Given the description of an element on the screen output the (x, y) to click on. 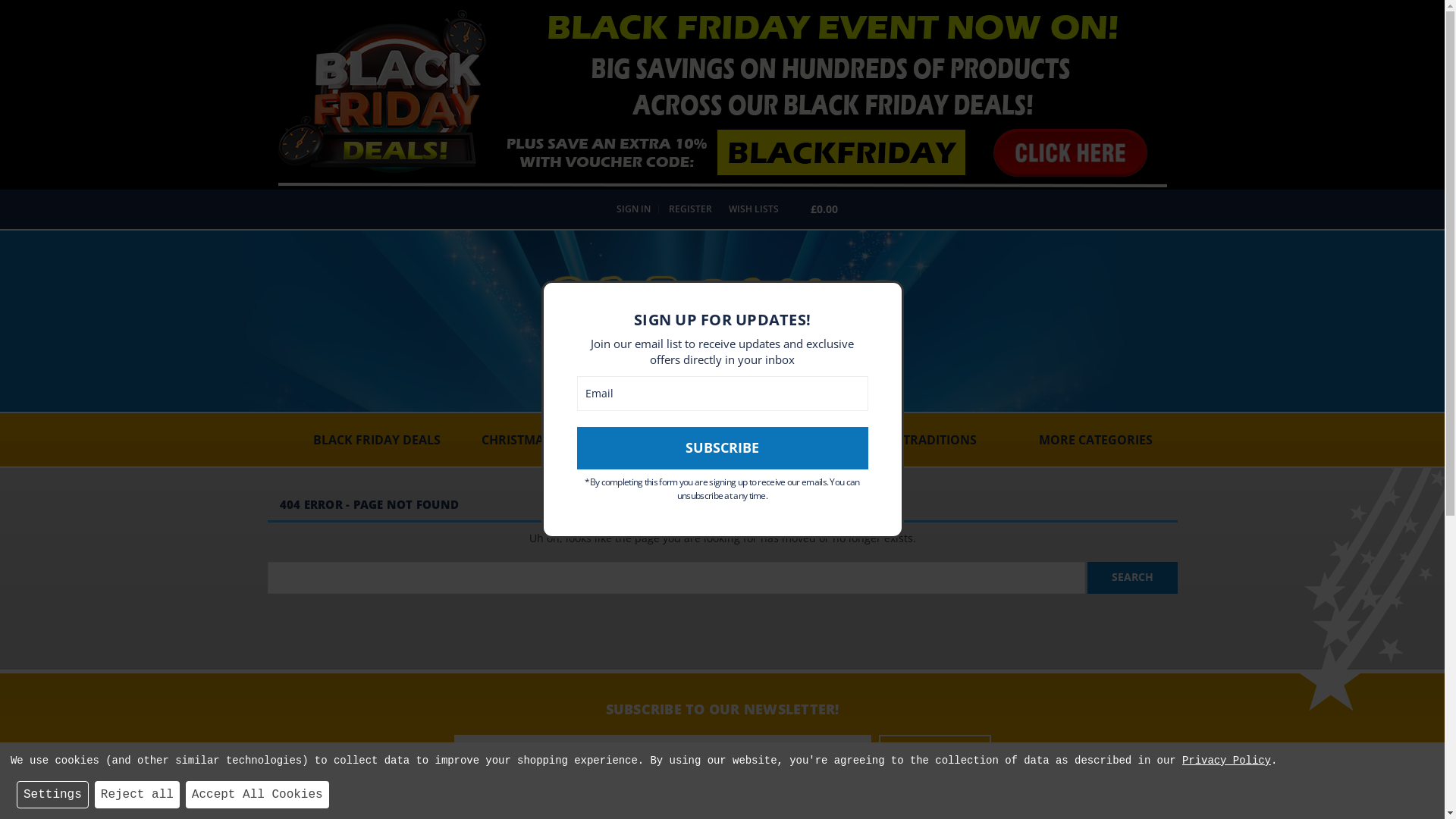
Search Element type: text (1132, 577)
Accept All Cookies Element type: text (257, 794)
WISH LISTS Element type: text (752, 209)
CHRISTMAS DEALS Element type: text (536, 439)
MORE CATEGORIES Element type: text (1099, 439)
NEW DISNEY TRADITIONS Element type: text (900, 439)
Subscribe Element type: text (721, 447)
Privacy Policy Element type: text (1226, 760)
DISNEY Element type: text (766, 439)
Subscribe Element type: text (934, 750)
24-7 Games Element type: hover (722, 306)
BLACK FRIDAY DEALS Element type: text (381, 439)
PRE-ORDERS Element type: text (665, 439)
Settings Element type: text (52, 794)
REGISTER Element type: text (688, 209)
Reject all Element type: text (136, 794)
SIGN IN Element type: text (632, 209)
